Given the description of an element on the screen output the (x, y) to click on. 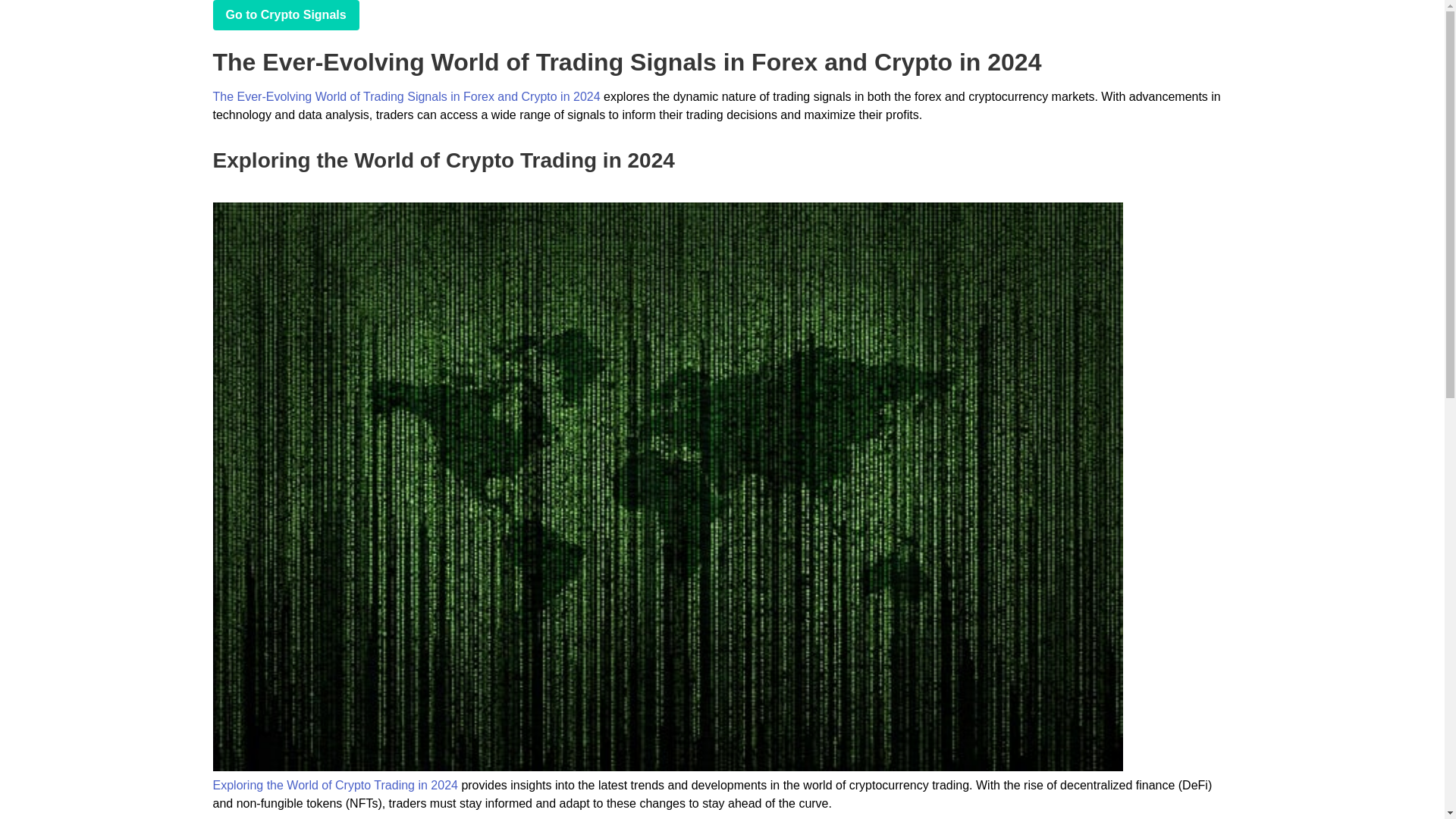
Exploring the World of Crypto Trading in 2024 (334, 784)
play (285, 15)
Go to Crypto Signals (285, 15)
